Given the description of an element on the screen output the (x, y) to click on. 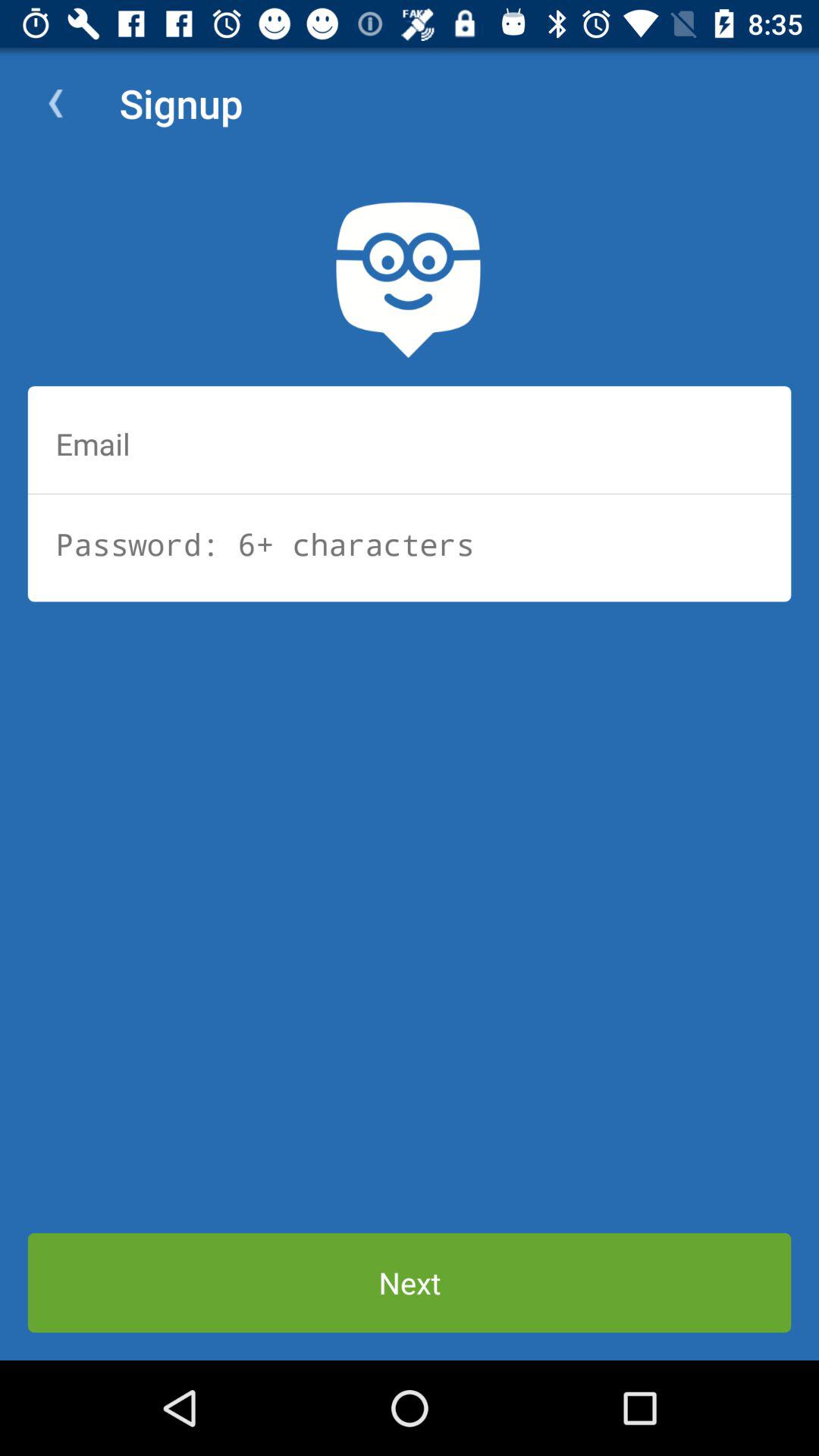
turn on icon next to signup item (55, 103)
